Given the description of an element on the screen output the (x, y) to click on. 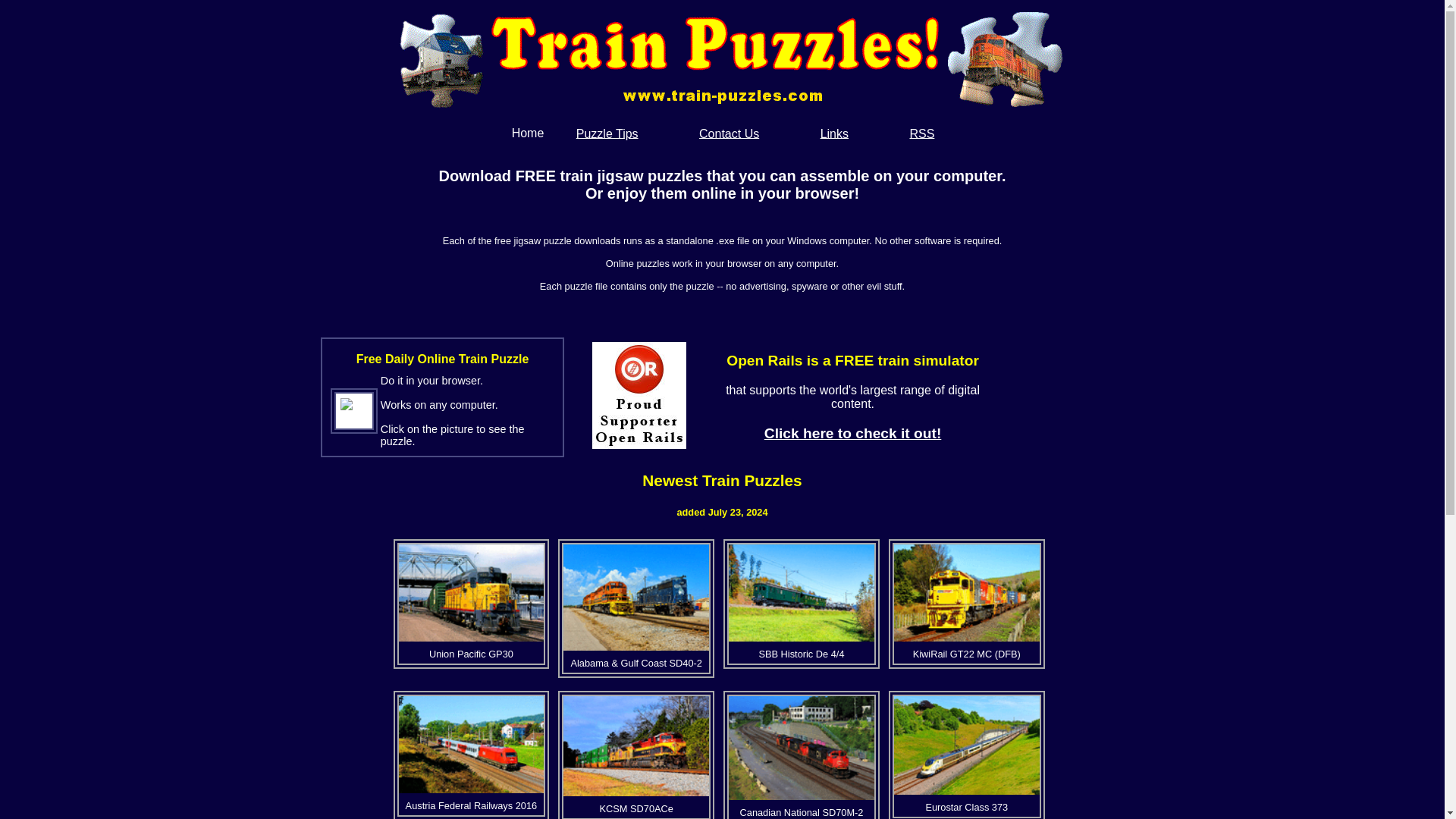
RSS (921, 132)
Contact Us (728, 132)
Puzzle Tips (606, 132)
Links (834, 132)
Click here to check it out! (853, 433)
